Given the description of an element on the screen output the (x, y) to click on. 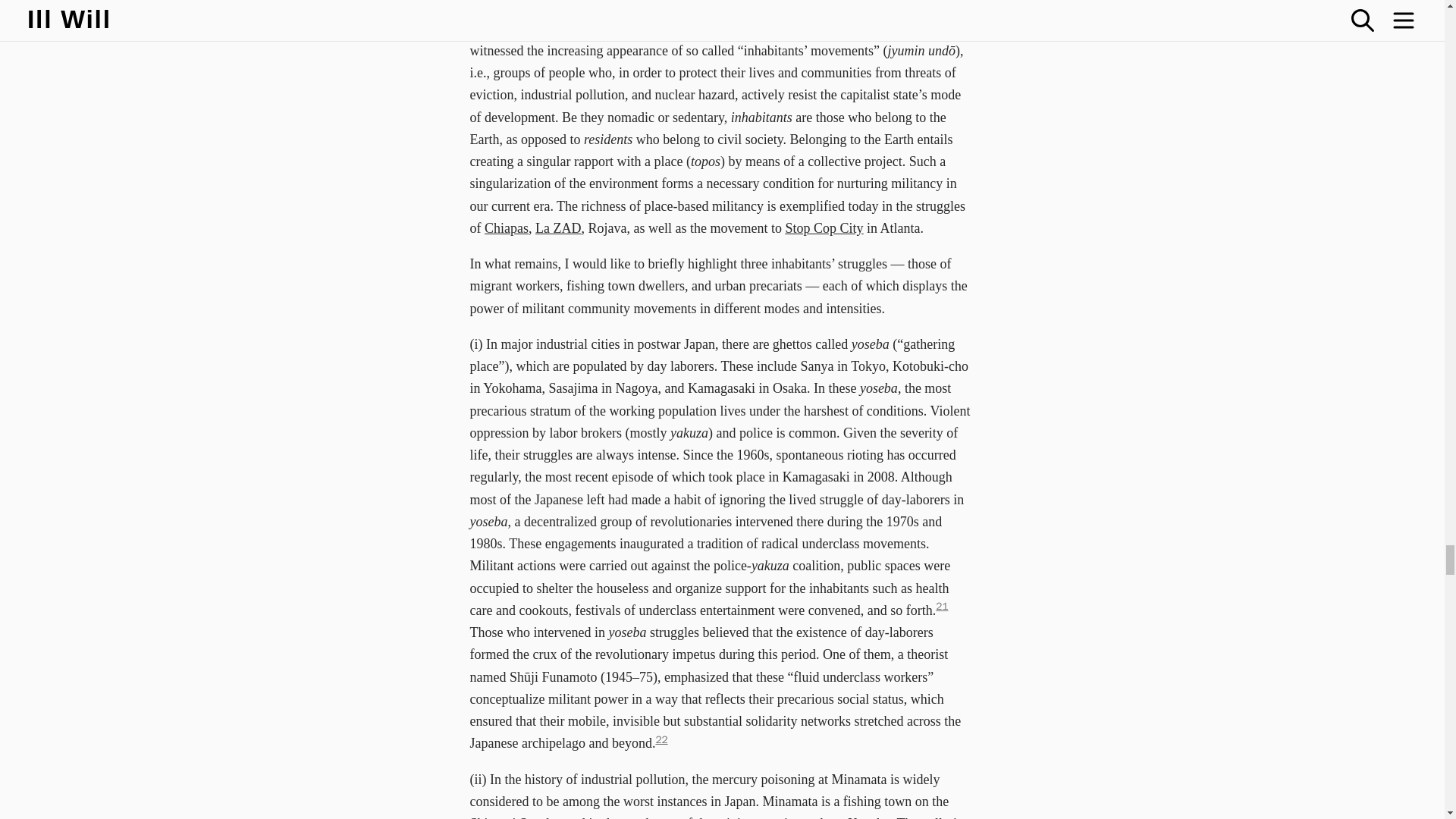
Chiapas (506, 227)
22 (660, 739)
La ZAD (557, 227)
Stop Cop City (823, 227)
21 (941, 605)
